Given the description of an element on the screen output the (x, y) to click on. 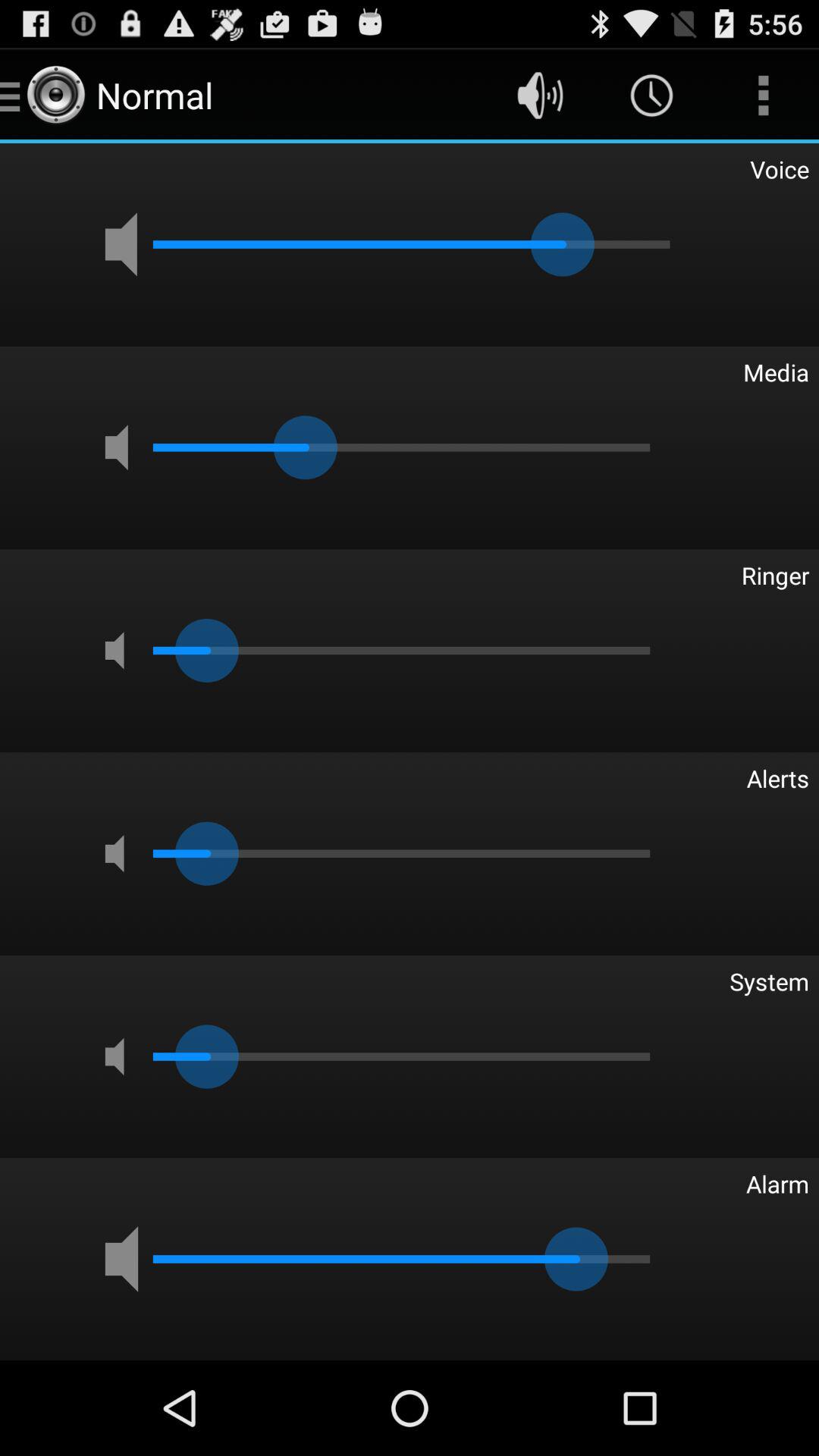
click the item to the right of normal app (540, 95)
